Given the description of an element on the screen output the (x, y) to click on. 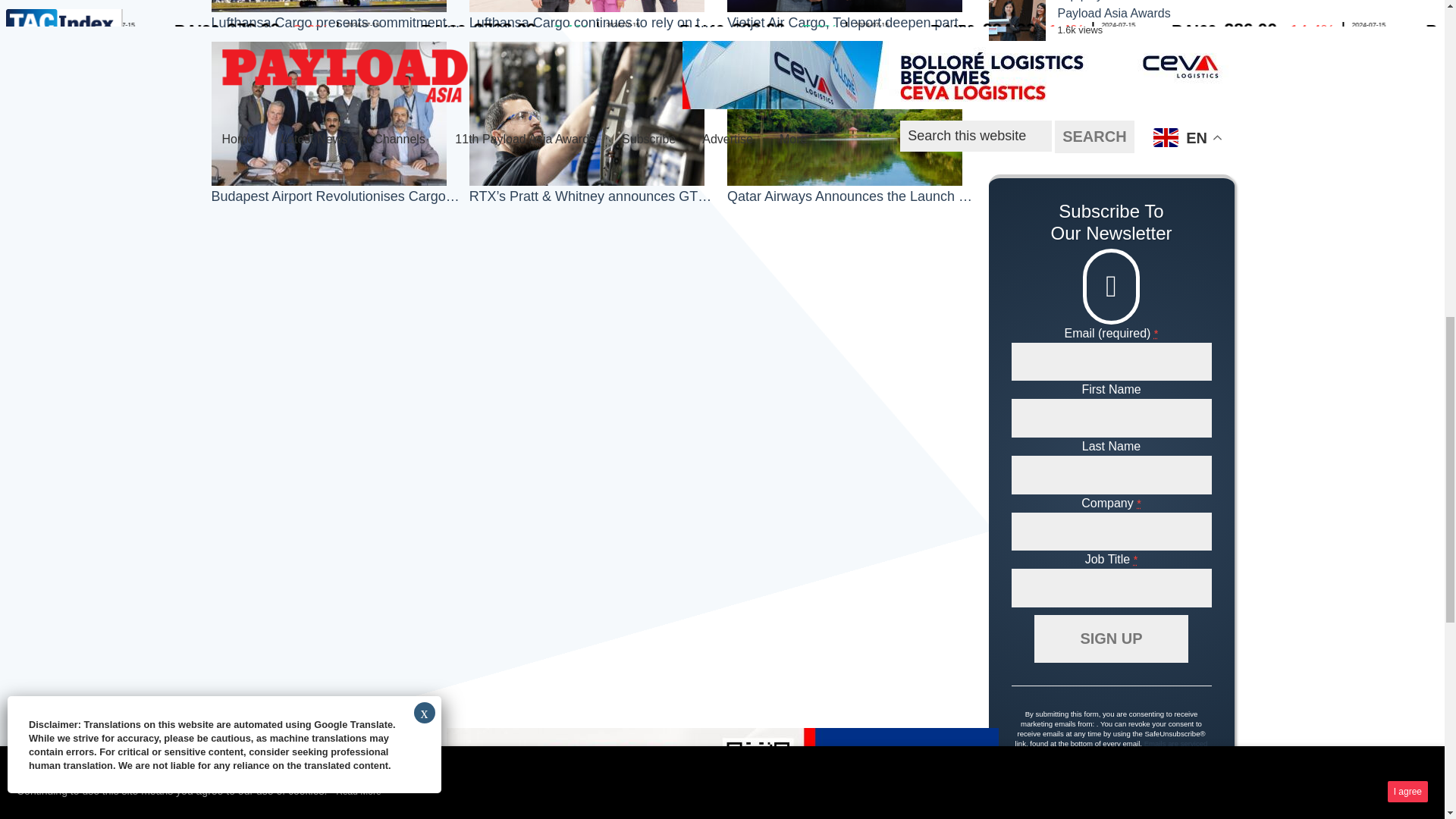
Sign up (1110, 638)
required (1156, 333)
required (1139, 503)
required (1136, 559)
